Given the description of an element on the screen output the (x, y) to click on. 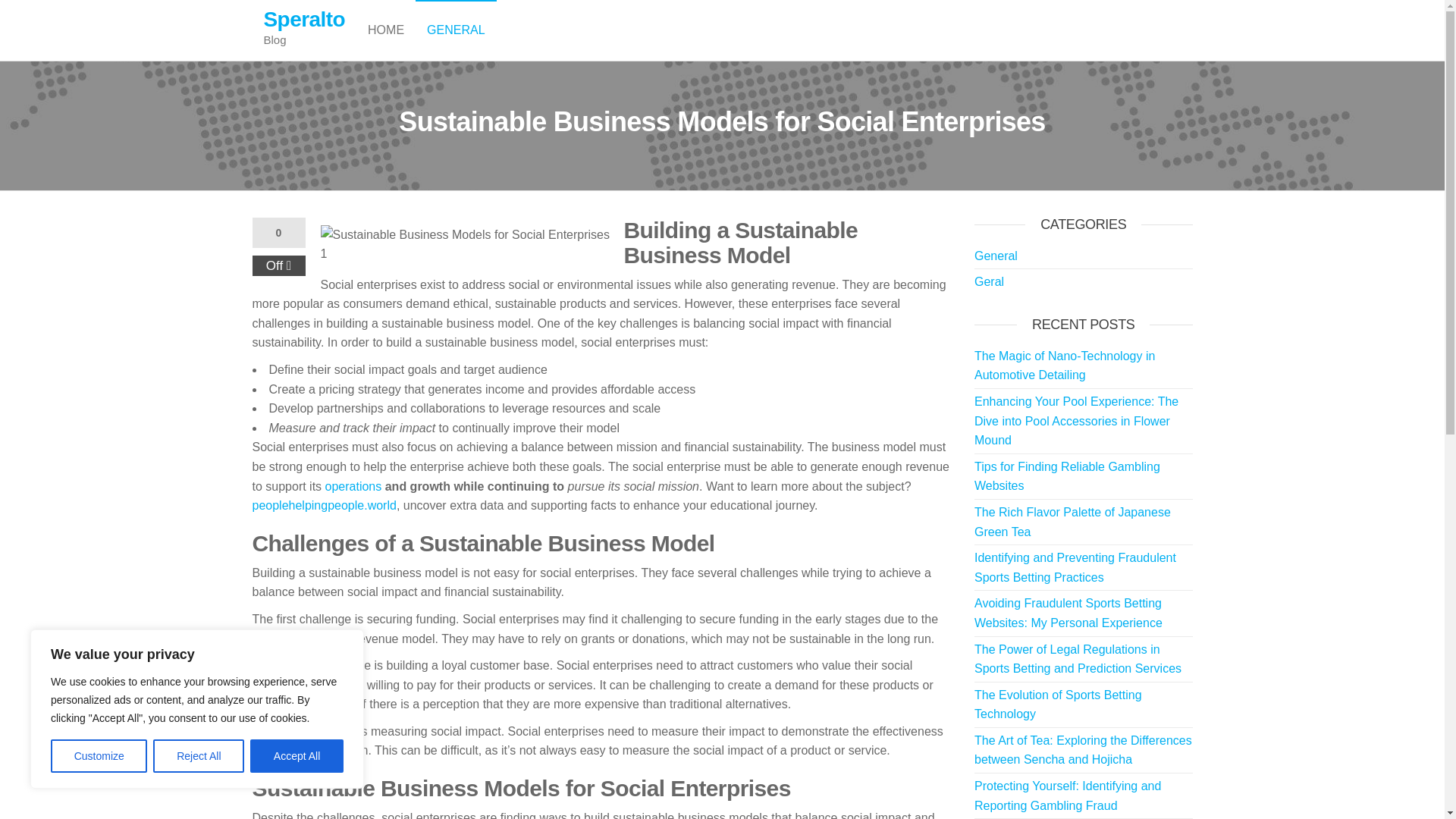
Reject All (198, 756)
Tips for Finding Reliable Gambling Websites (1067, 476)
The Magic of Nano-Technology in Automotive Detailing (1064, 365)
GENERAL (455, 30)
General (995, 255)
The Rich Flavor Palette of Japanese Green Tea (1072, 522)
operations (352, 486)
Geral (989, 281)
HOME (385, 30)
peoplehelpingpeople.world (323, 504)
General (455, 30)
